Given the description of an element on the screen output the (x, y) to click on. 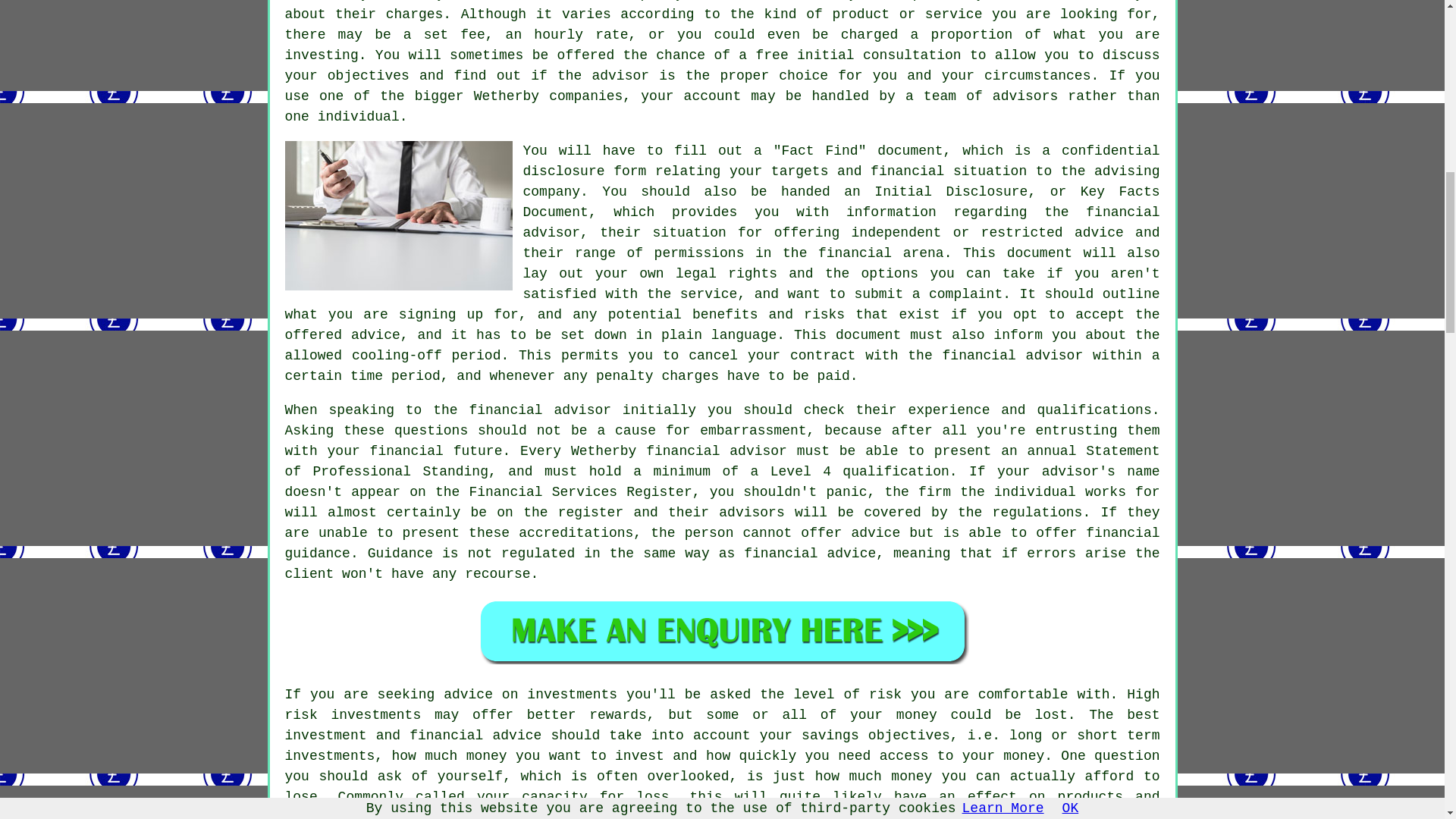
Financial Advisor Quotes in Wetherby West Yorkshire (722, 631)
